Given the description of an element on the screen output the (x, y) to click on. 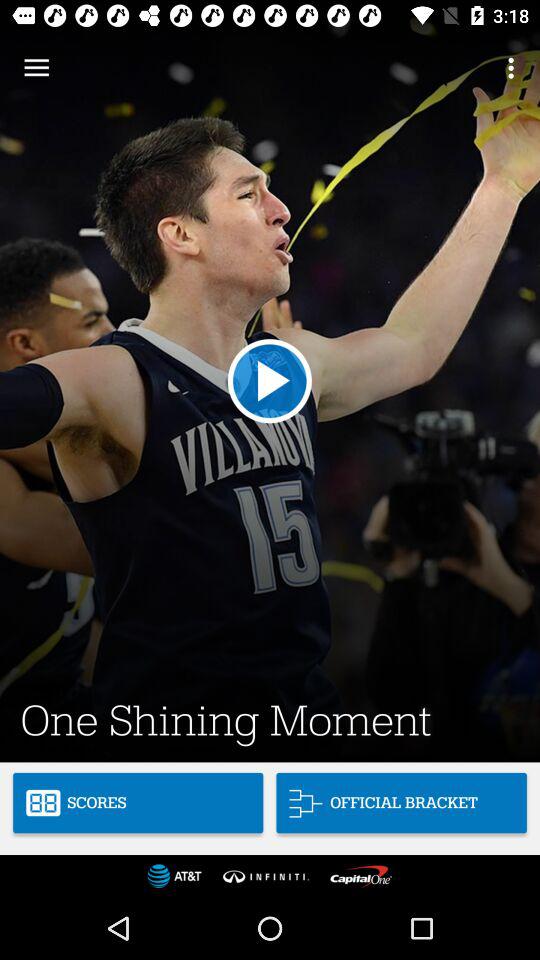
swipe to scores (138, 802)
